Given the description of an element on the screen output the (x, y) to click on. 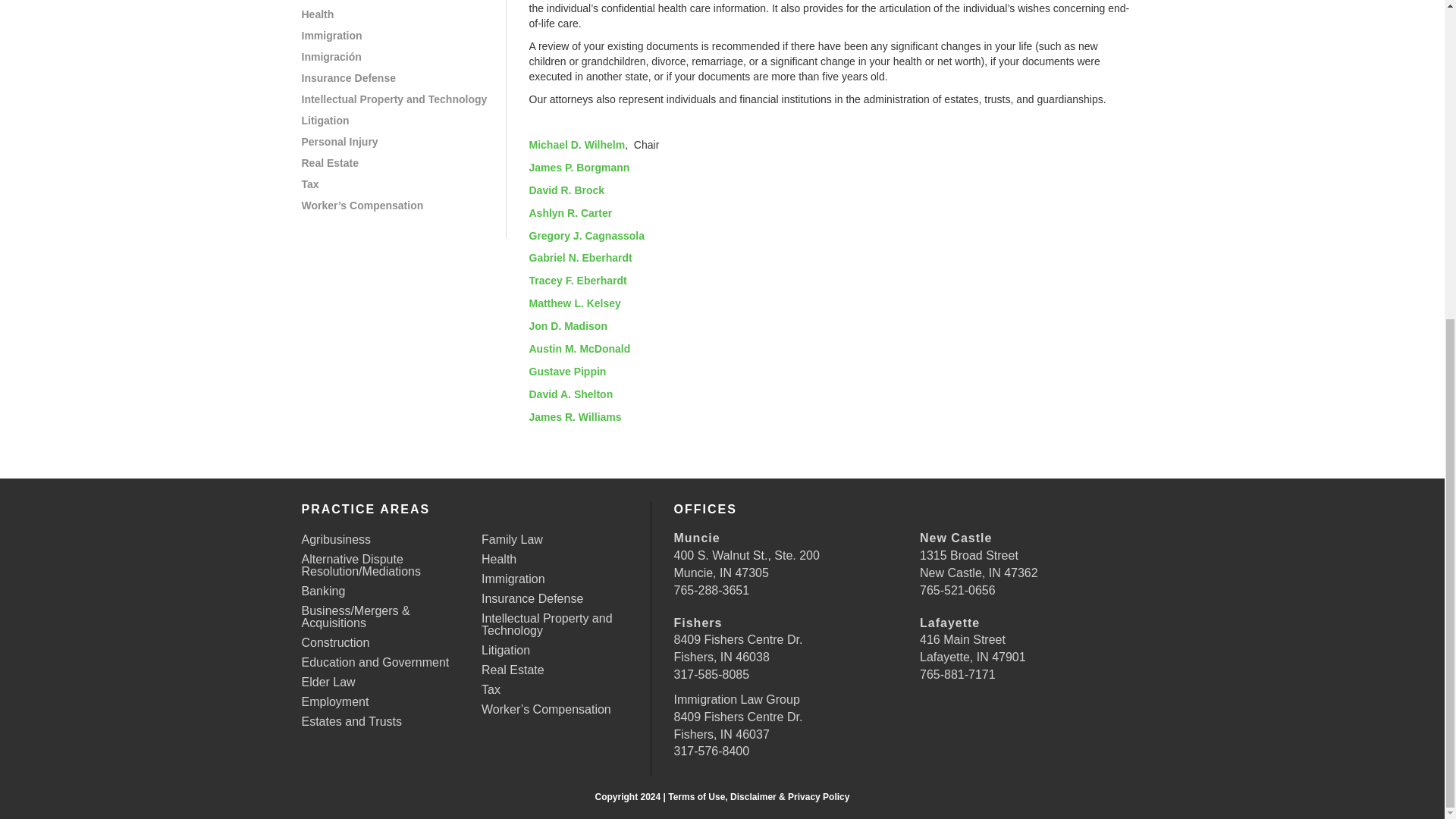
Austin M. McDonald (579, 348)
Gustave Pippin (568, 371)
Jon D. Madison (568, 326)
Gabriel N. Eberhardt (580, 257)
James P. Borgmann (579, 167)
James R. Williams (575, 417)
Ashlyn R. Carter (570, 213)
Tracey F. Eberhardt (578, 280)
David R. Brock (567, 190)
David A. Shelton (570, 394)
